Given the description of an element on the screen output the (x, y) to click on. 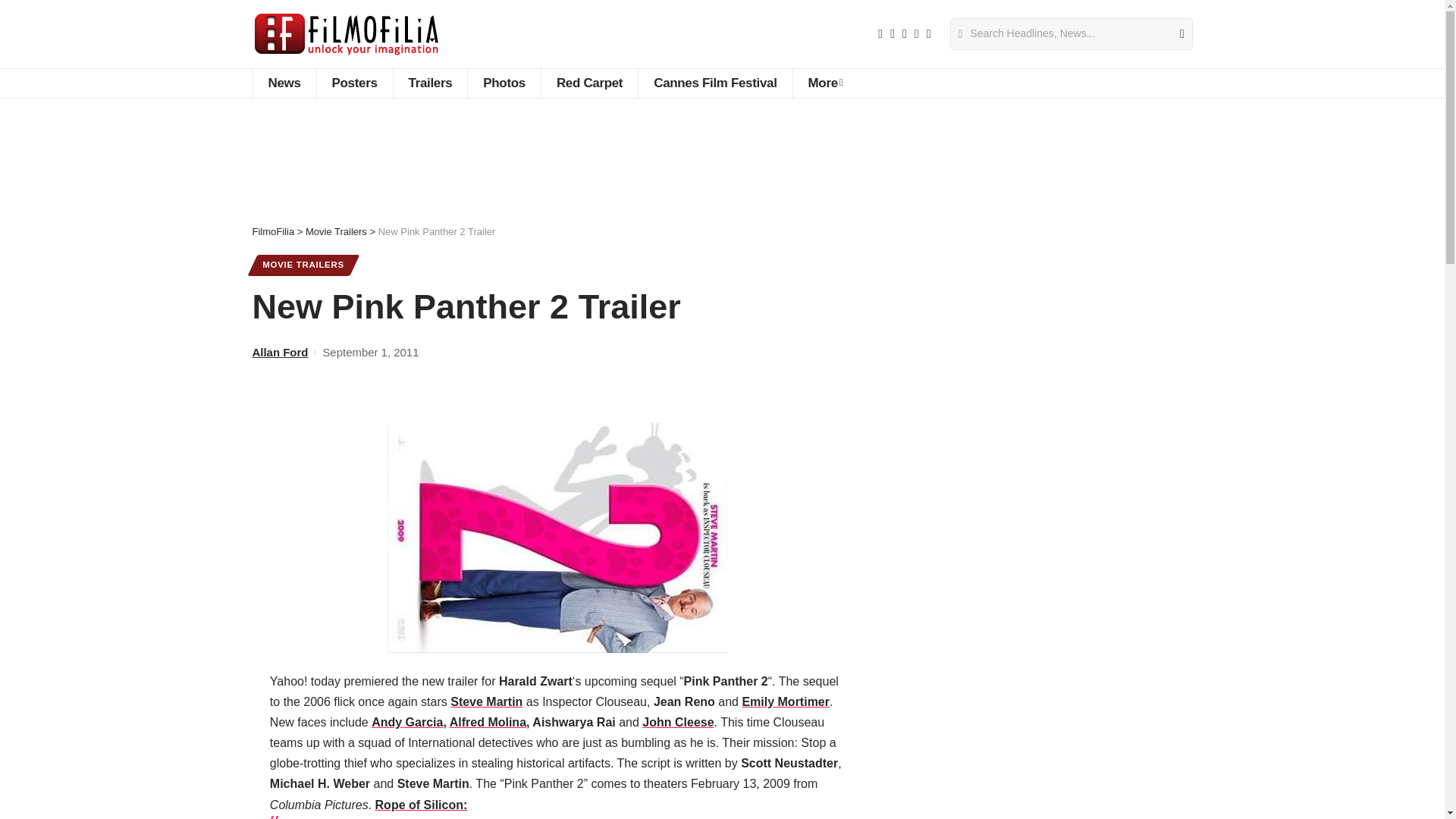
FilmoFilia (346, 33)
Posts tagged with Alfred Molina (487, 721)
Search (1175, 33)
Pink Panther 2 (558, 537)
Posts tagged with Andy Garcia (406, 721)
Posts tagged with Emily Mortimer (785, 701)
Go to the Movie Trailers Category archives. (335, 231)
Posts tagged with john cleese (677, 721)
Posts tagged with Steve Martin (485, 701)
More (825, 82)
Cannes Film Festival (714, 82)
Red Carpet (588, 82)
Go to FilmoFilia. (272, 231)
News (283, 82)
Photos (503, 82)
